Given the description of an element on the screen output the (x, y) to click on. 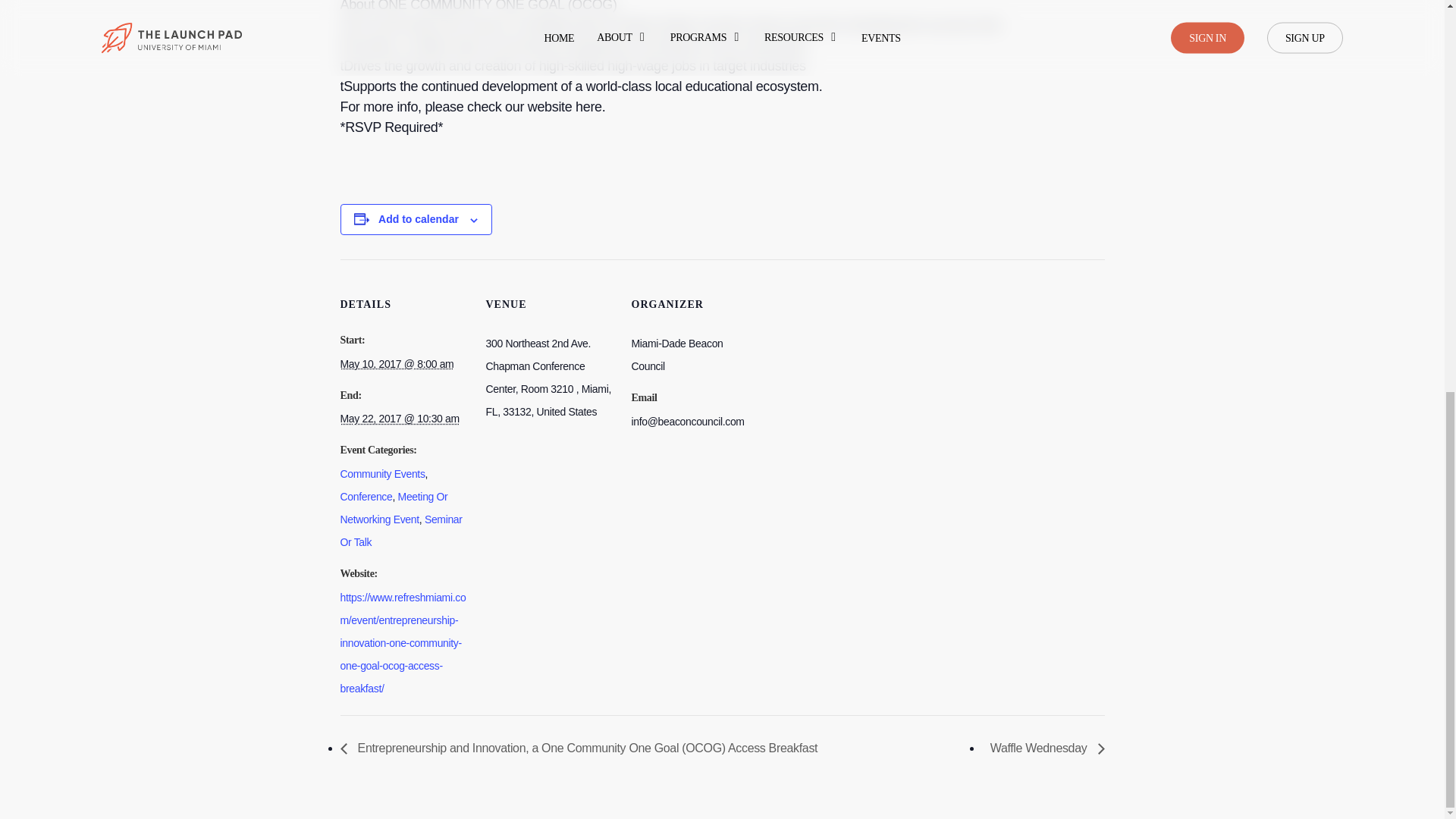
2017-05-22 (398, 418)
2017-05-10 (395, 363)
Add to calendar (418, 218)
